Given the description of an element on the screen output the (x, y) to click on. 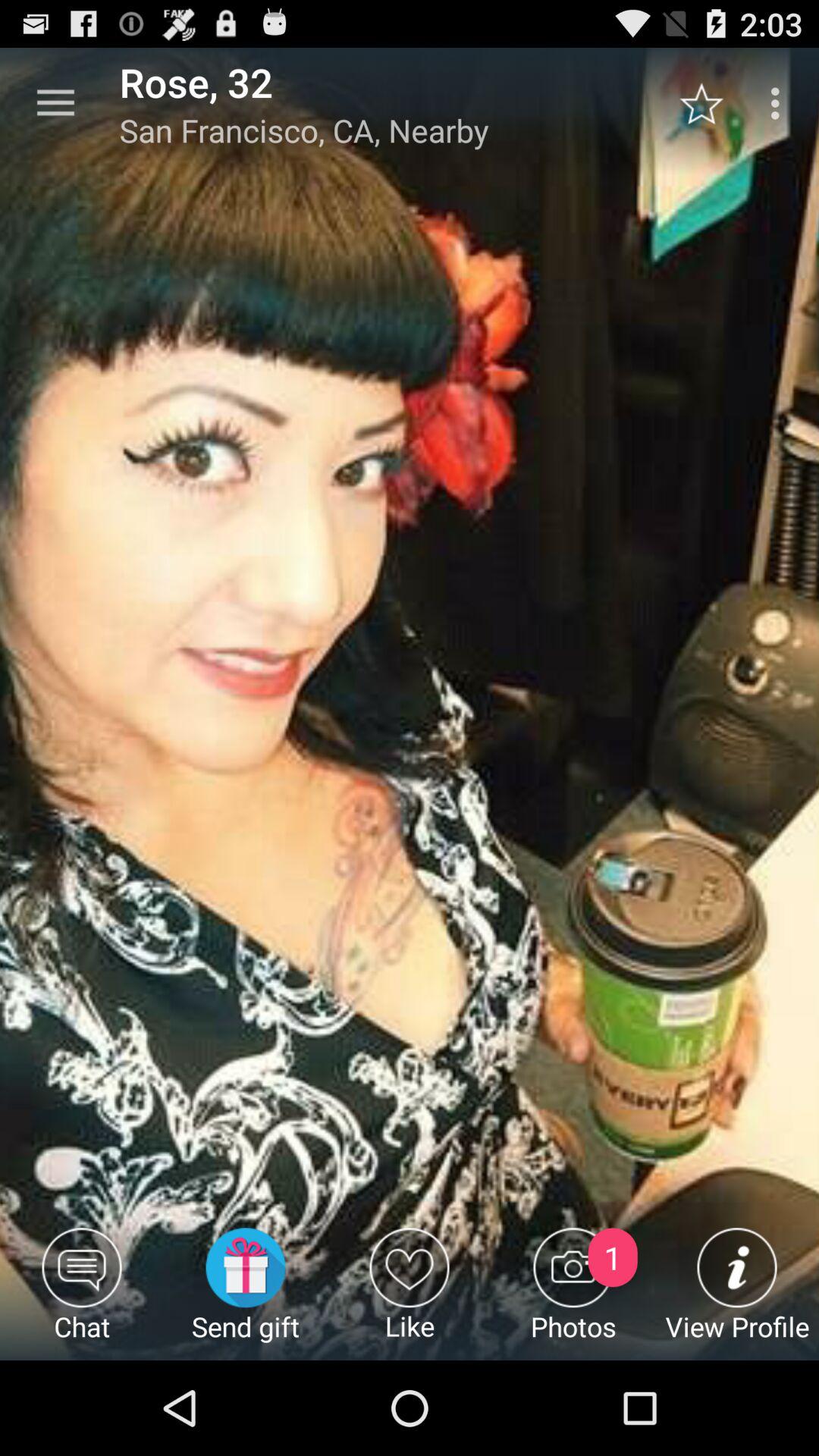
tap icon to the right of photos (737, 1293)
